Given the description of an element on the screen output the (x, y) to click on. 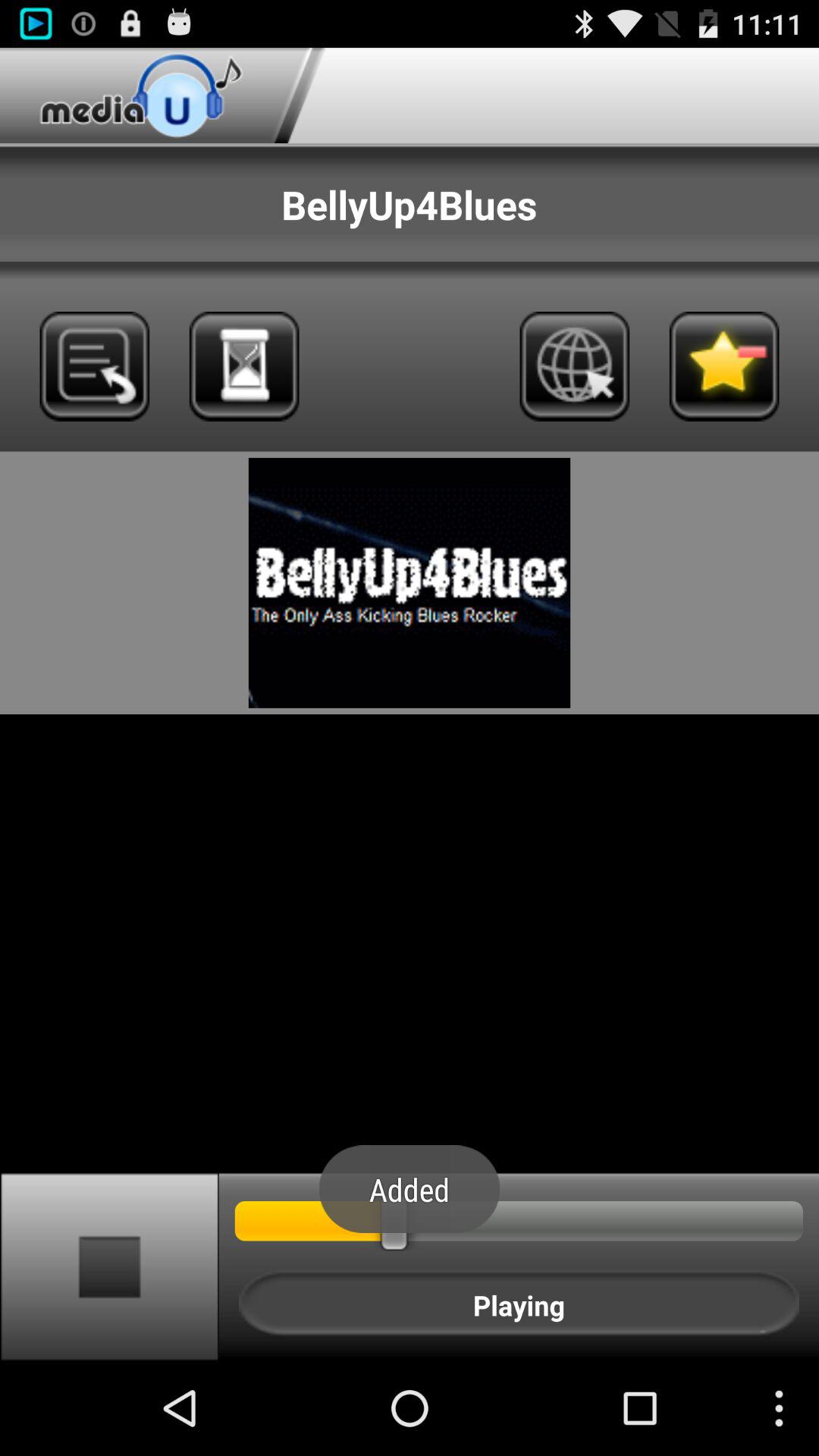
switch autoplay option (109, 1266)
